Given the description of an element on the screen output the (x, y) to click on. 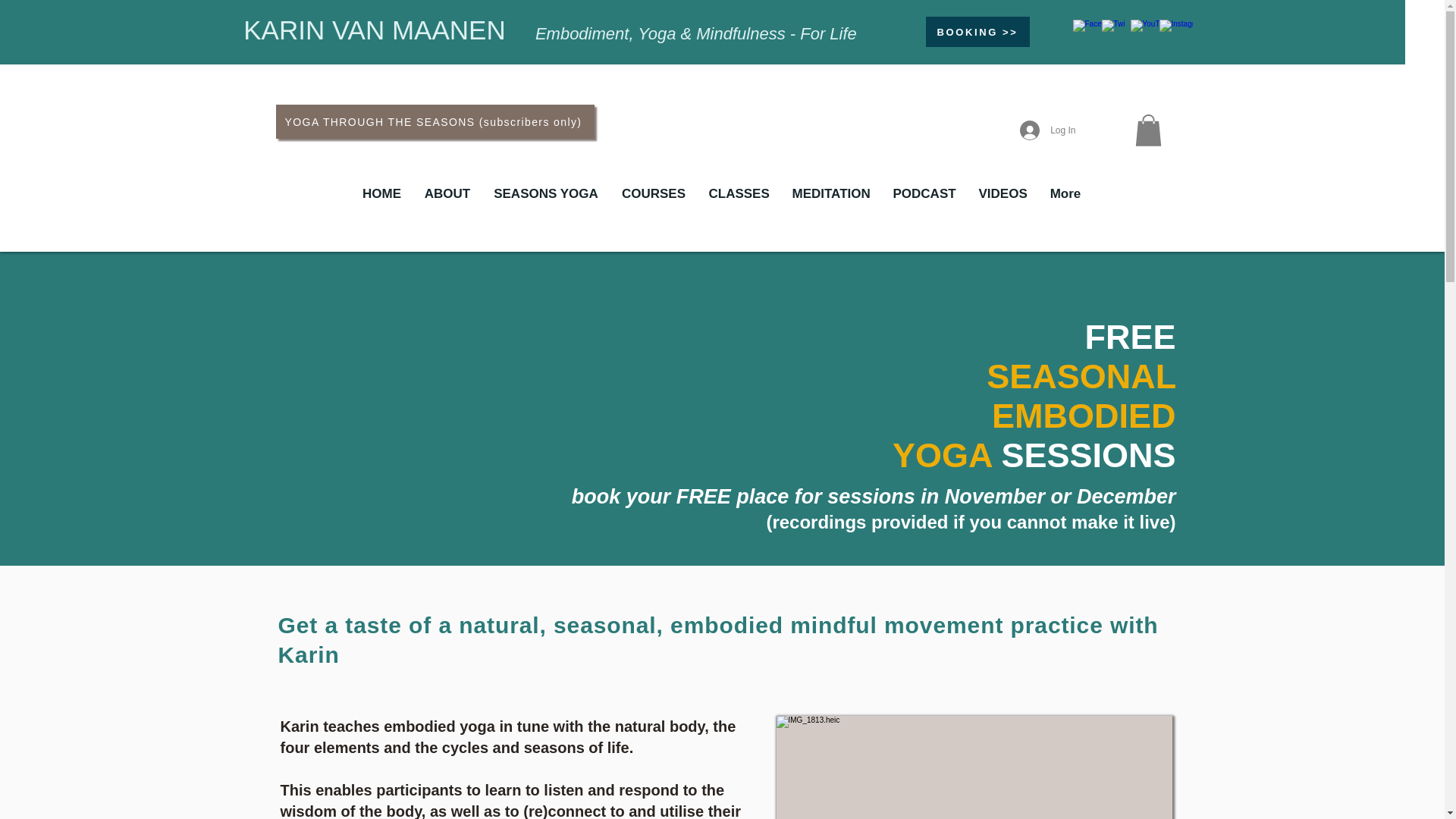
CLASSES (738, 193)
COURSES (653, 193)
MEDITATION (831, 193)
PODCAST (923, 193)
ABOUT (446, 193)
HOME (381, 193)
VIDEOS (1003, 193)
SEASONS YOGA (545, 193)
Log In (1047, 130)
